Given the description of an element on the screen output the (x, y) to click on. 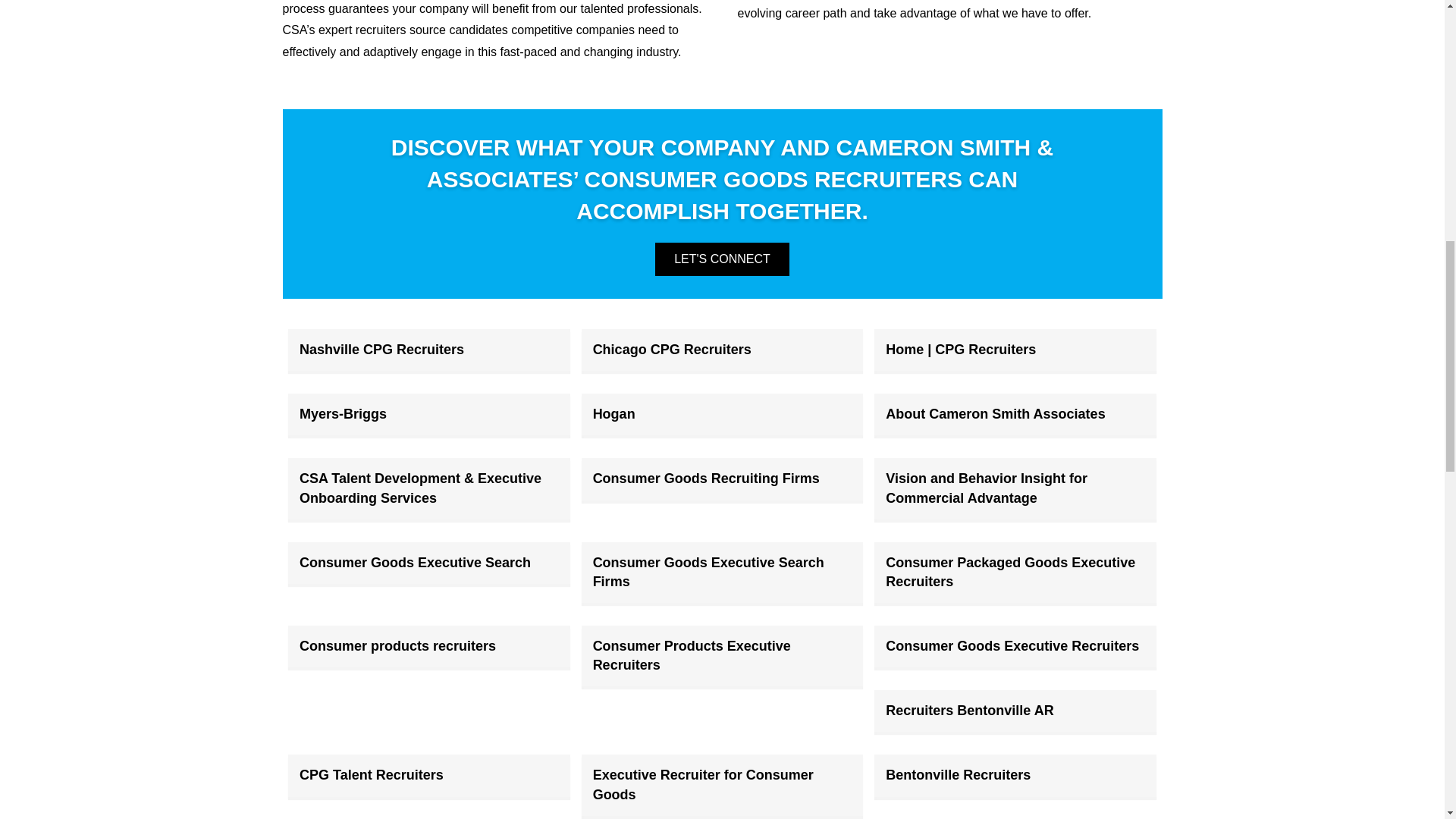
Vision and Behavior Insight for Commercial Advantage (986, 487)
Consumer Goods Recruiting Firms (705, 478)
Nashville CPG Recruiters (381, 349)
Consumer Goods Executive Search (415, 562)
Recruiters Bentonville AR (968, 710)
Hogan (613, 413)
Chicago CPG Recruiters (671, 349)
Consumer Goods Executive Search Firms (708, 571)
About Cameron Smith Associates (995, 413)
Consumer Products Executive Recruiters (691, 655)
Consumer Packaged Goods Executive Recruiters (1010, 571)
Myers-Briggs (343, 413)
Consumer products recruiters (397, 645)
Consumer Goods Executive Recruiters (1011, 645)
